Given the description of an element on the screen output the (x, y) to click on. 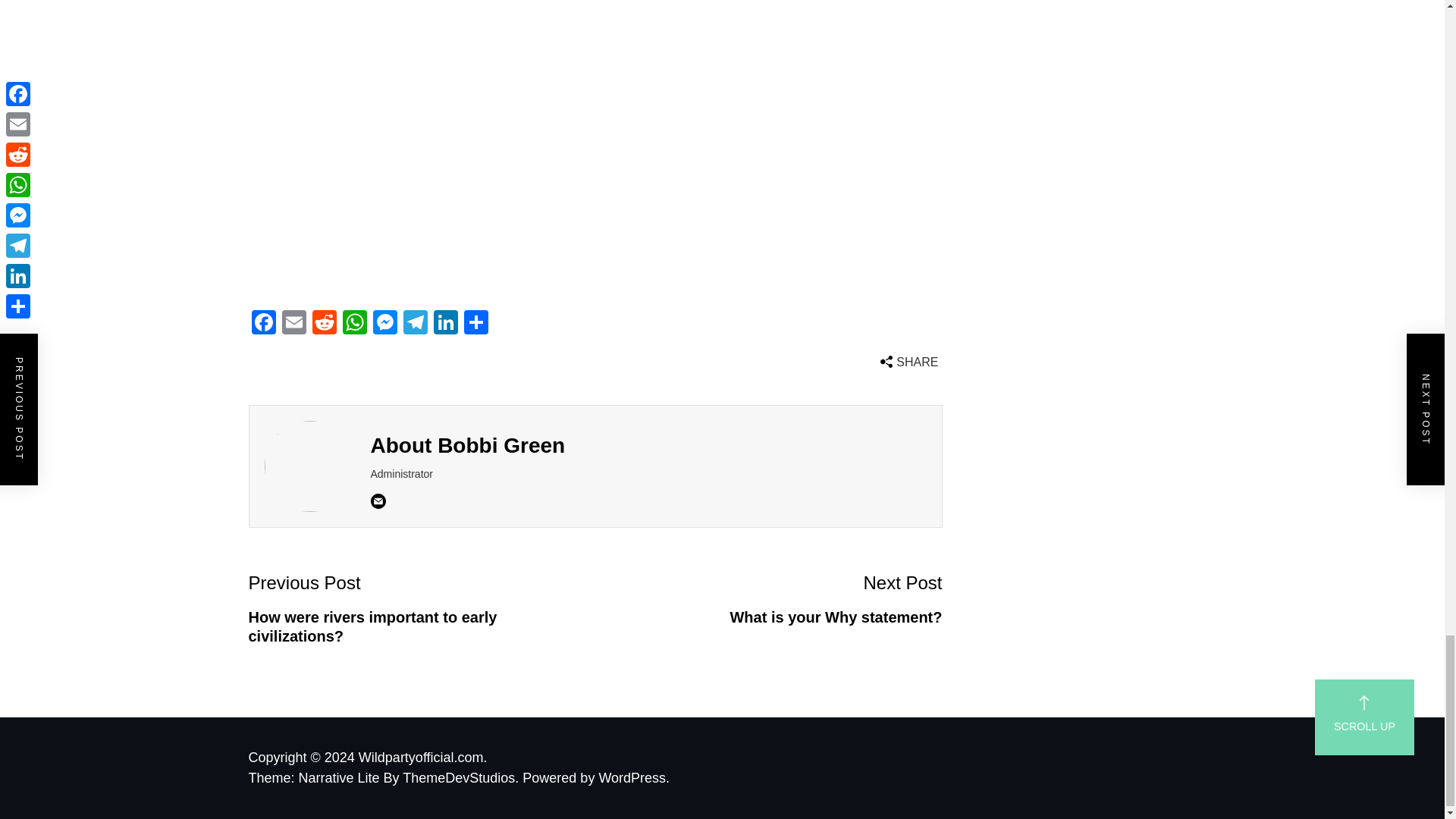
Wildpartyofficial.com (422, 757)
About Bobbi Green (466, 445)
LinkedIn (445, 324)
Email (293, 324)
WhatsApp (354, 324)
SCROLL UP (1363, 716)
Telegram (415, 324)
Share (476, 324)
WhatsApp (354, 324)
LinkedIn (445, 324)
Telegram (415, 324)
Facebook (263, 324)
Email (293, 324)
